Given the description of an element on the screen output the (x, y) to click on. 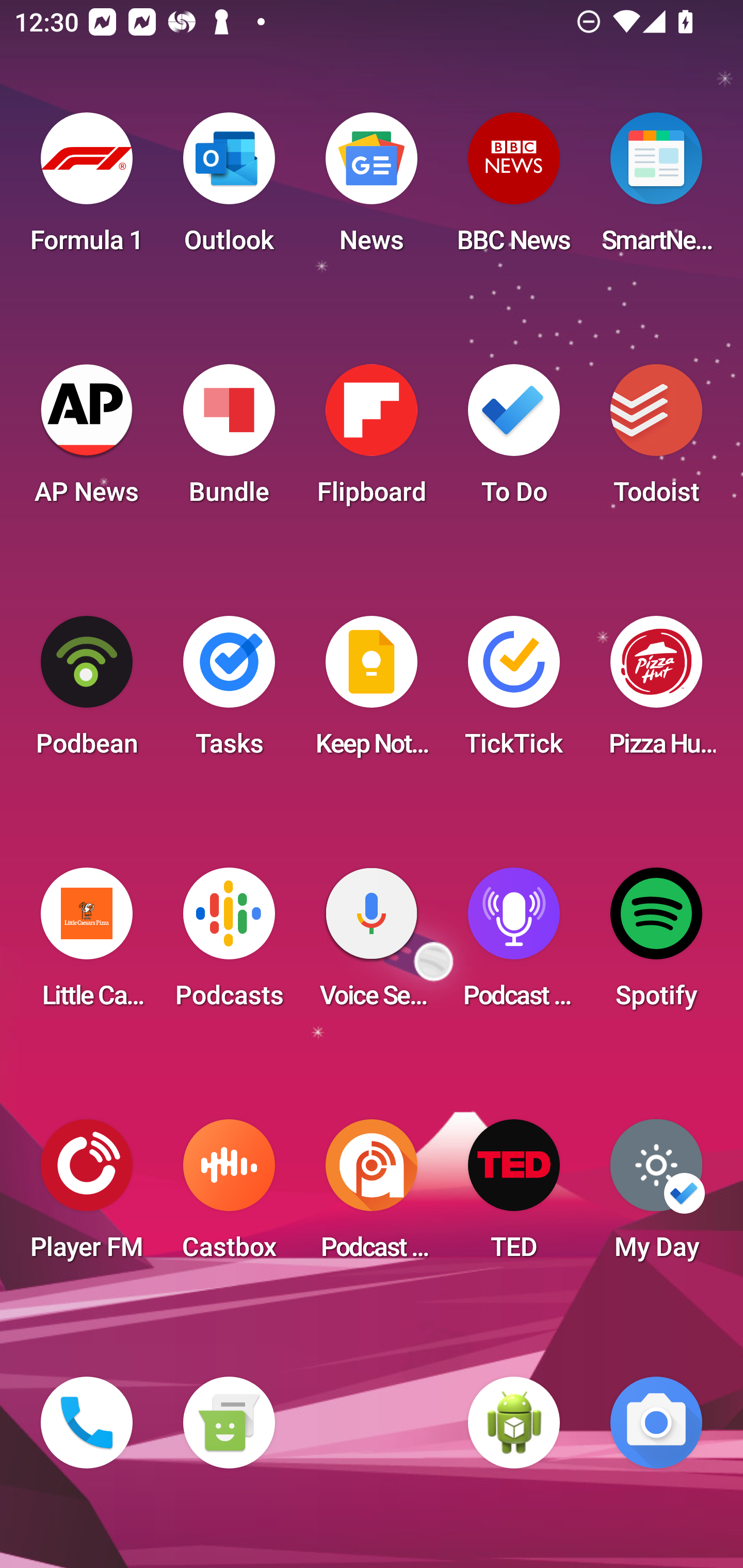
Formula 1 (86, 188)
Outlook (228, 188)
News (371, 188)
BBC News (513, 188)
SmartNews (656, 188)
AP News (86, 440)
Bundle (228, 440)
Flipboard (371, 440)
To Do (513, 440)
Todoist (656, 440)
Podbean (86, 692)
Tasks (228, 692)
Keep Notes (371, 692)
TickTick (513, 692)
Pizza Hut HK & Macau (656, 692)
Little Caesars Pizza (86, 943)
Podcasts (228, 943)
Voice Search (371, 943)
Podcast Player (513, 943)
Spotify (656, 943)
Player FM (86, 1195)
Castbox (228, 1195)
Podcast Addict (371, 1195)
TED (513, 1195)
My Day (656, 1195)
Phone (86, 1422)
Messaging (228, 1422)
WebView Browser Tester (513, 1422)
Camera (656, 1422)
